Given the description of an element on the screen output the (x, y) to click on. 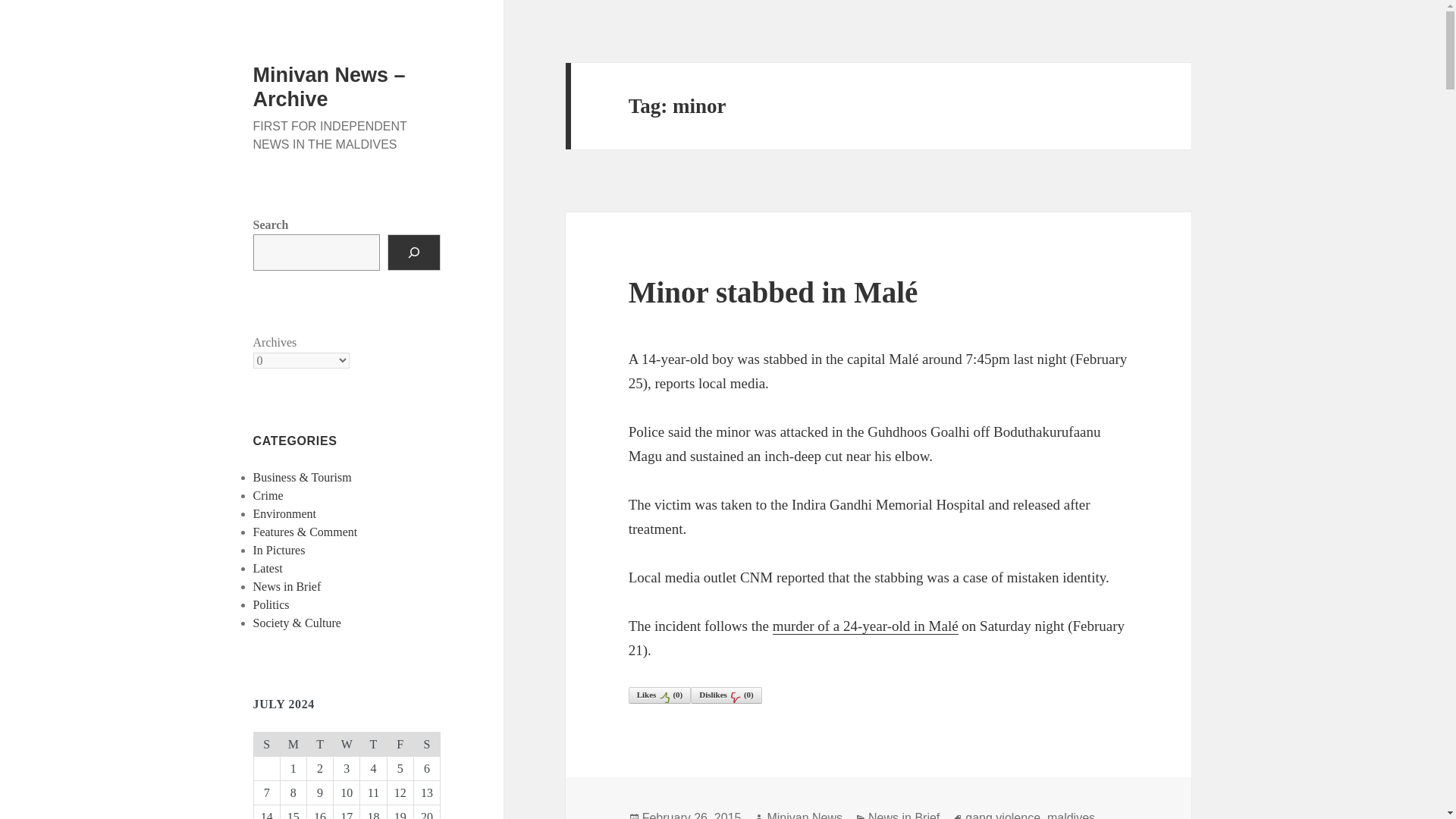
Crime (268, 495)
In Pictures (279, 549)
Wednesday (346, 743)
Sunday (266, 743)
News in Brief (287, 585)
Saturday (426, 743)
February 26, 2015 (691, 815)
Monday (292, 743)
gang violence (1003, 815)
Tuesday (319, 743)
Minivan News (805, 815)
maldives news (861, 815)
Thursday (373, 743)
Environment (285, 513)
News in Brief (903, 815)
